Given the description of an element on the screen output the (x, y) to click on. 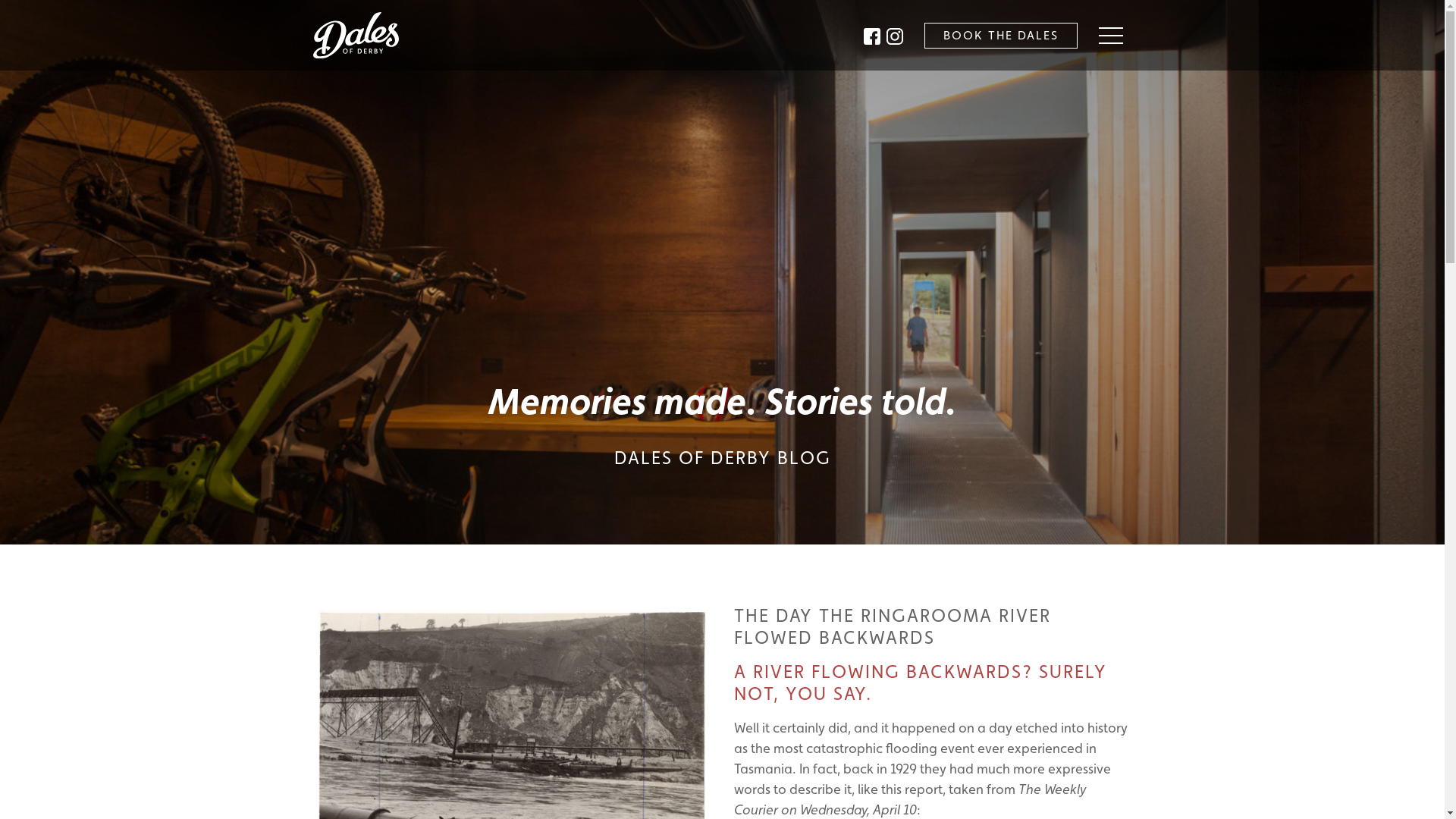
Menu Element type: text (1114, 35)
logo-white Element type: text (359, 35)
BOOK THE DALES Element type: text (999, 35)
